Given the description of an element on the screen output the (x, y) to click on. 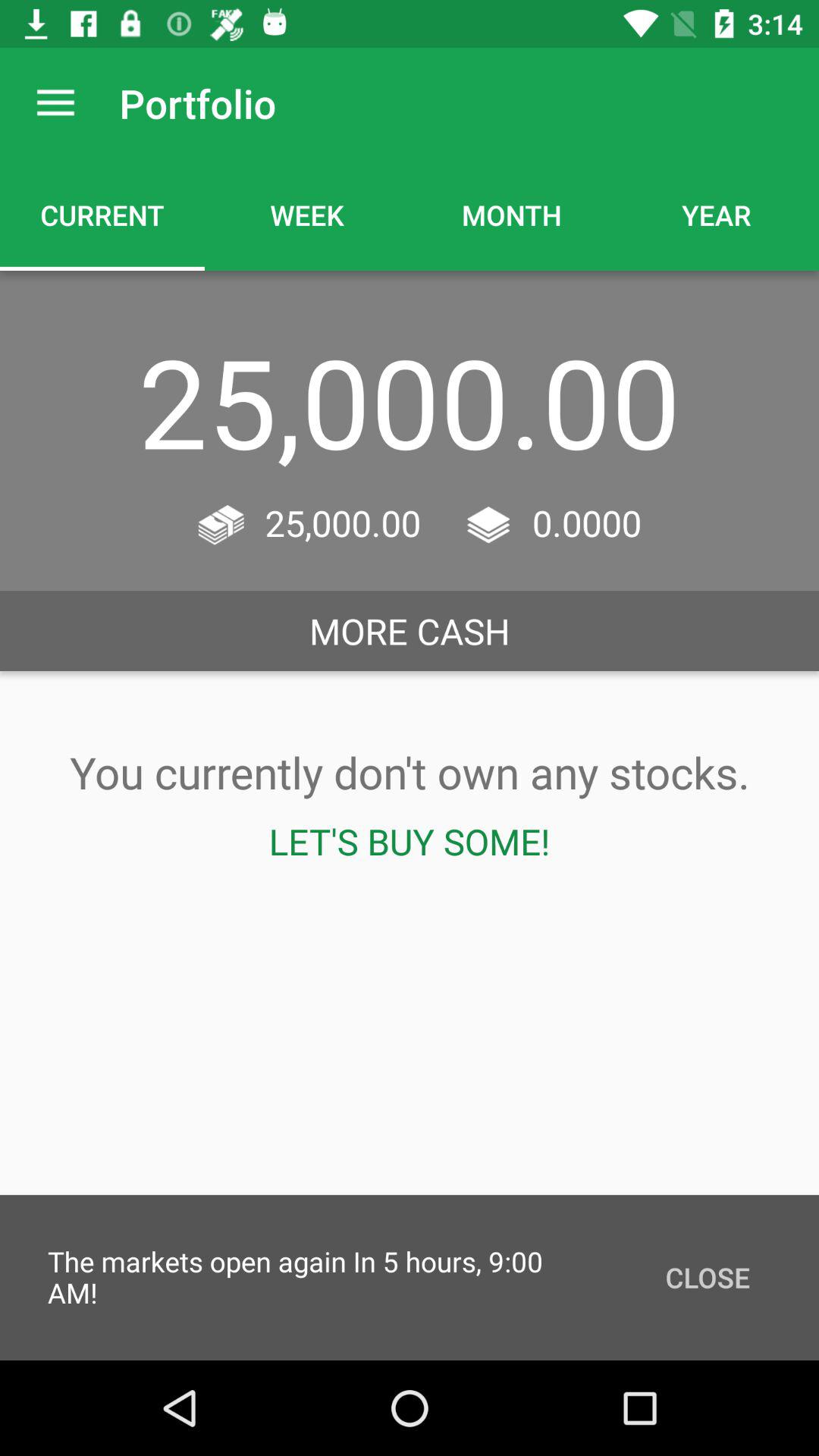
launch icon next to the the markets open (707, 1277)
